Given the description of an element on the screen output the (x, y) to click on. 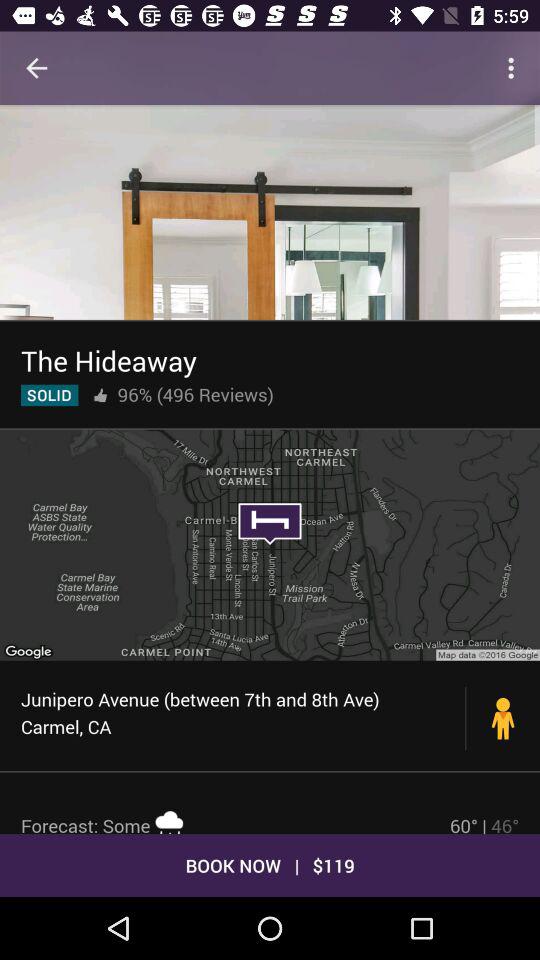
turn on item above junipero avenue between icon (270, 544)
